Given the description of an element on the screen output the (x, y) to click on. 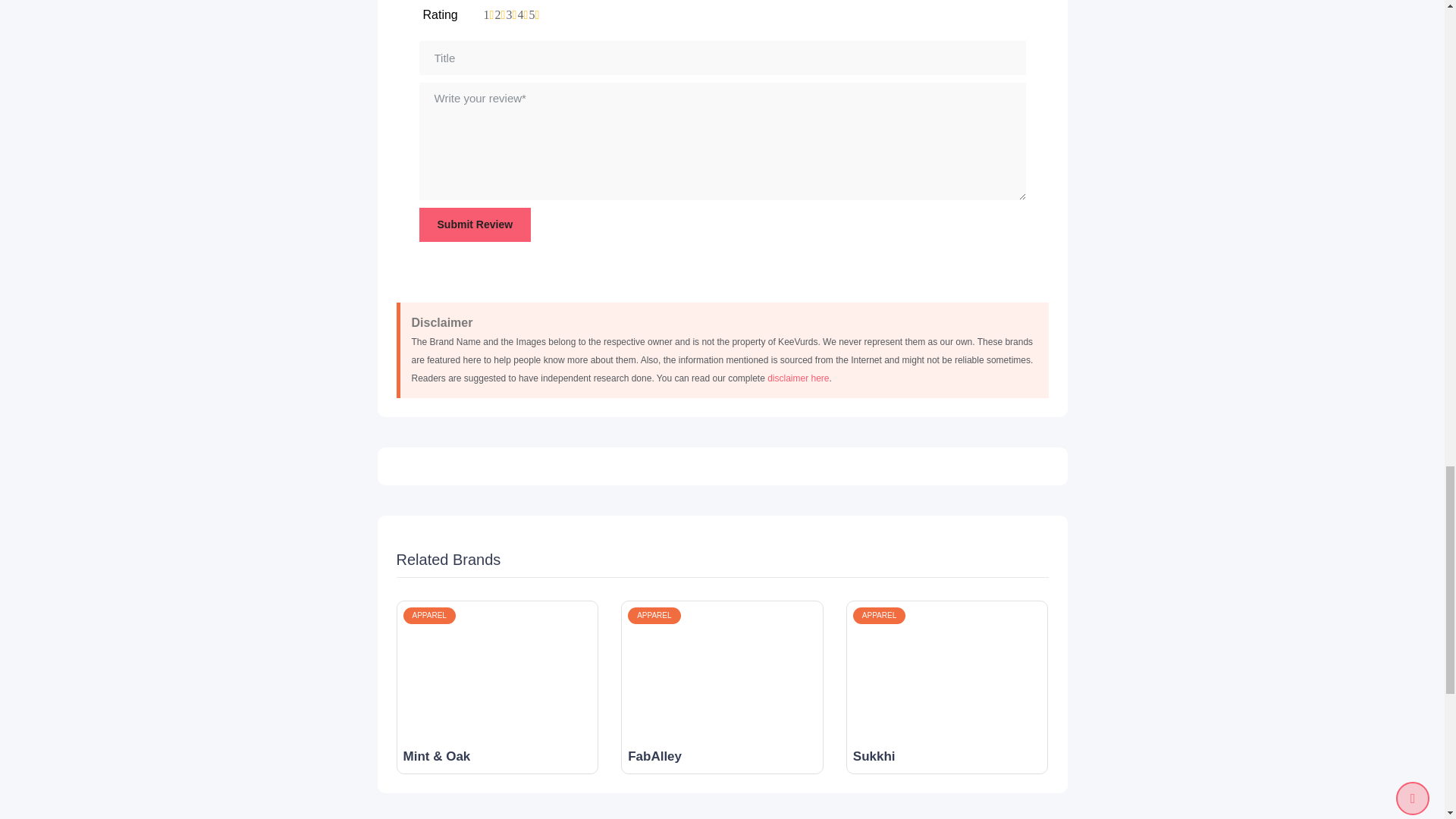
Submit Review (475, 224)
